Given the description of an element on the screen output the (x, y) to click on. 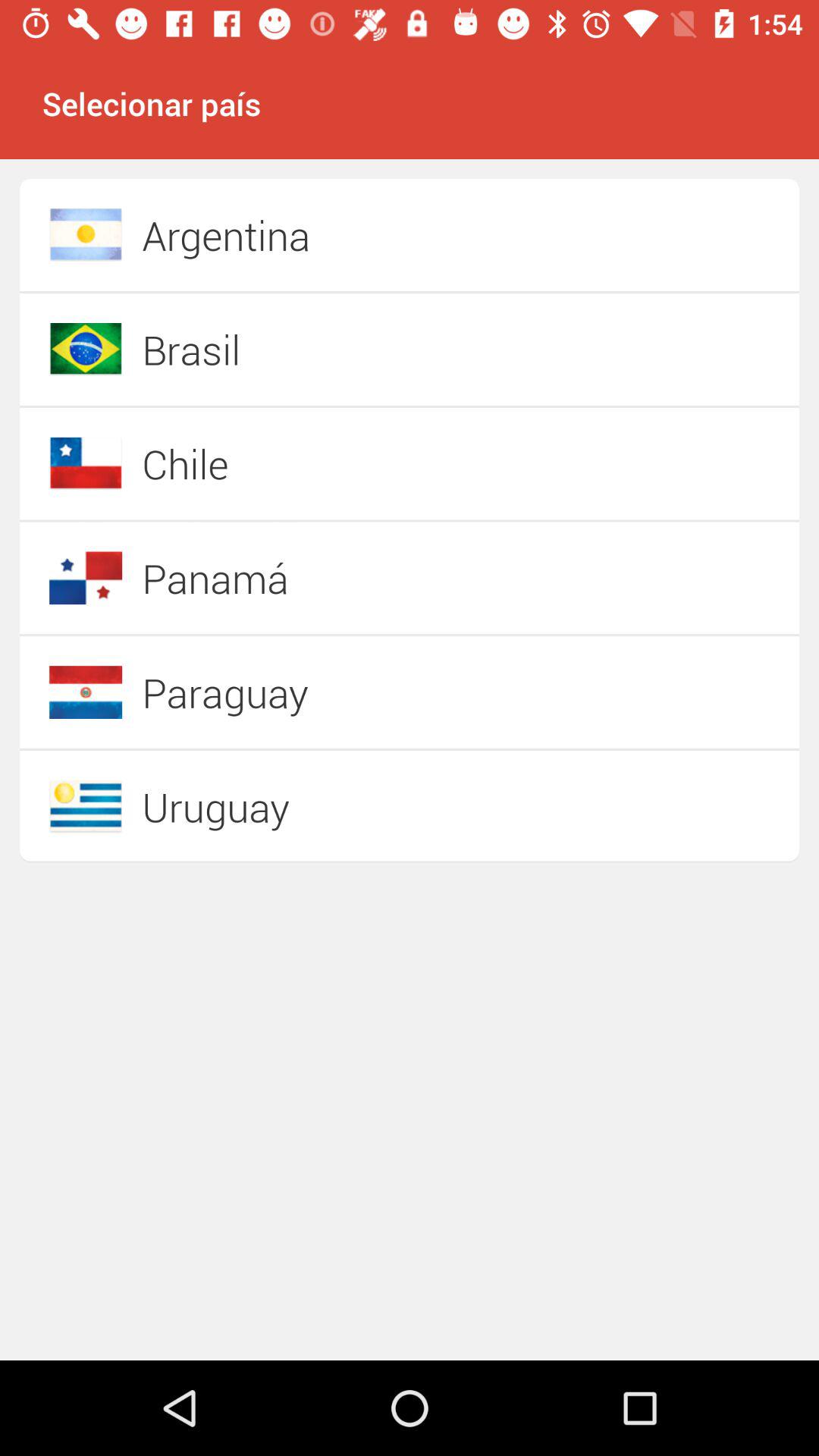
press icon below the argentina item (356, 349)
